Given the description of an element on the screen output the (x, y) to click on. 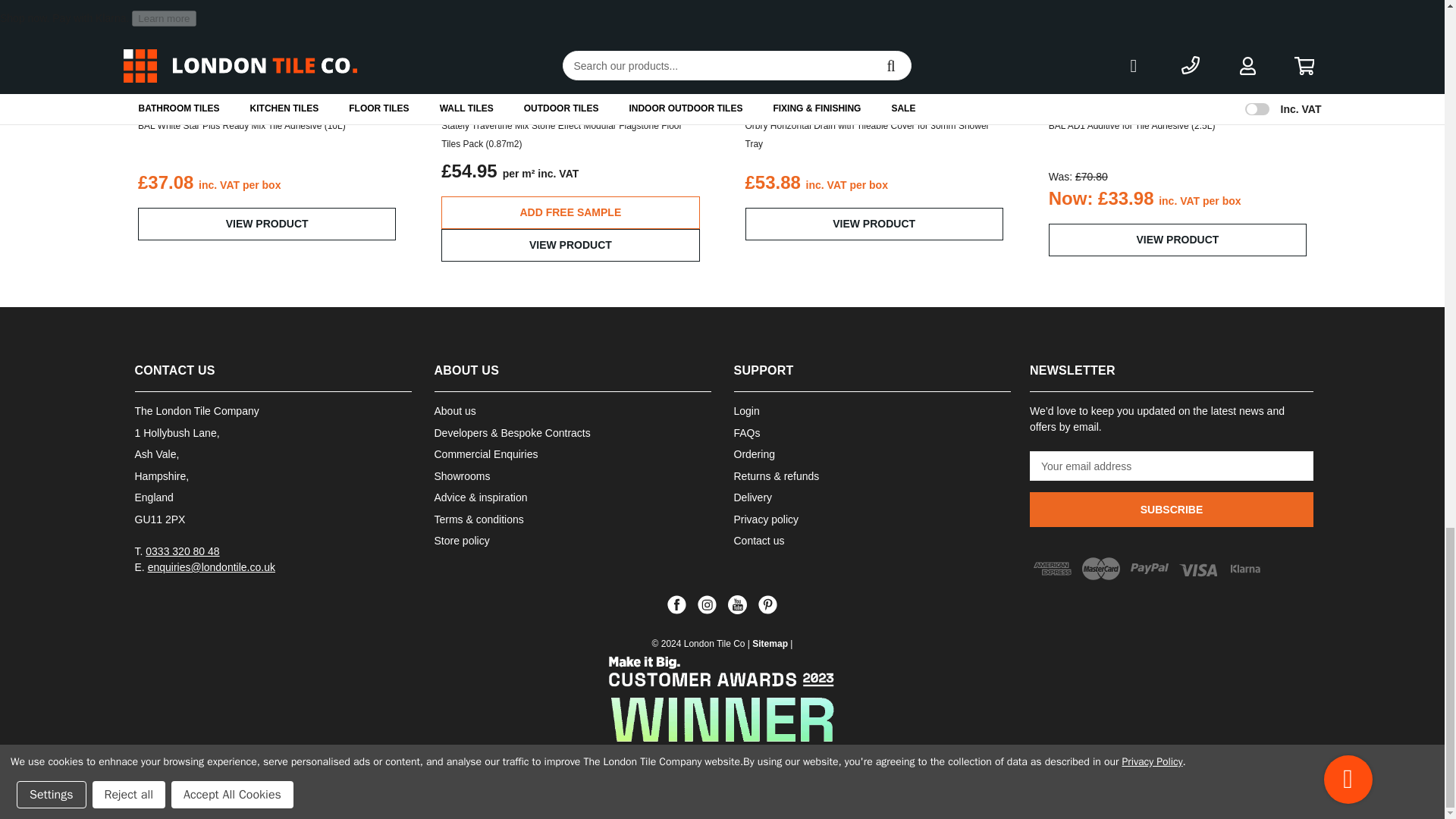
a 2.5 litre bottle of BAL AD1 tile adhesive Additive, (1177, 52)
A 10l tub of BAL White Star Plus Ready Mix Tile Adhesive (267, 52)
Subscribe (1171, 509)
Travertine effect floor tiles (569, 52)
